Given the description of an element on the screen output the (x, y) to click on. 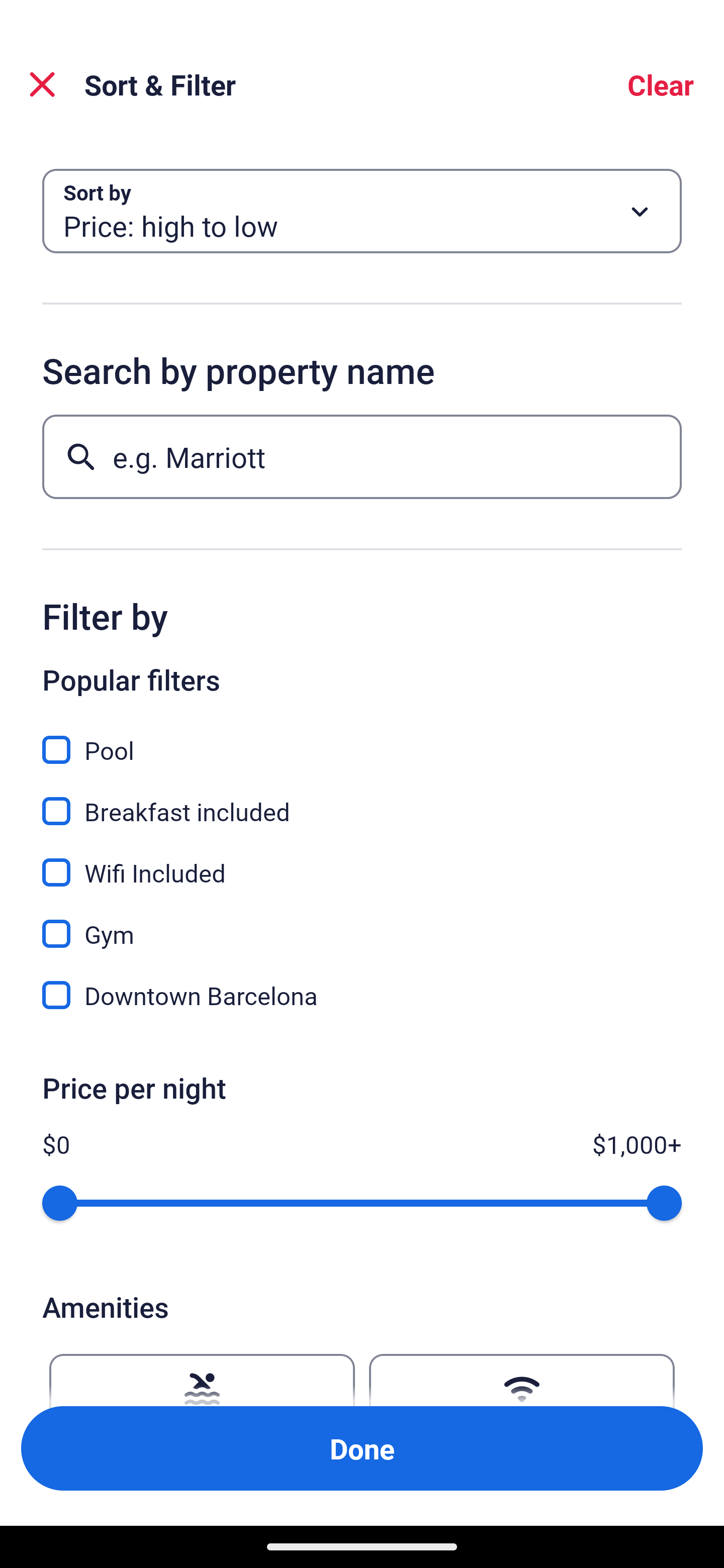
Close Sort and Filter (42, 84)
Clear (660, 84)
Sort by Button Price: high to low (361, 211)
e.g. Marriott Button (361, 455)
Pool, Pool (361, 738)
Breakfast included, Breakfast included (361, 800)
Wifi Included, Wifi Included (361, 861)
Gym, Gym (361, 922)
Downtown Barcelona, Downtown Barcelona (361, 995)
Apply and close Sort and Filter Done (361, 1448)
